Given the description of an element on the screen output the (x, y) to click on. 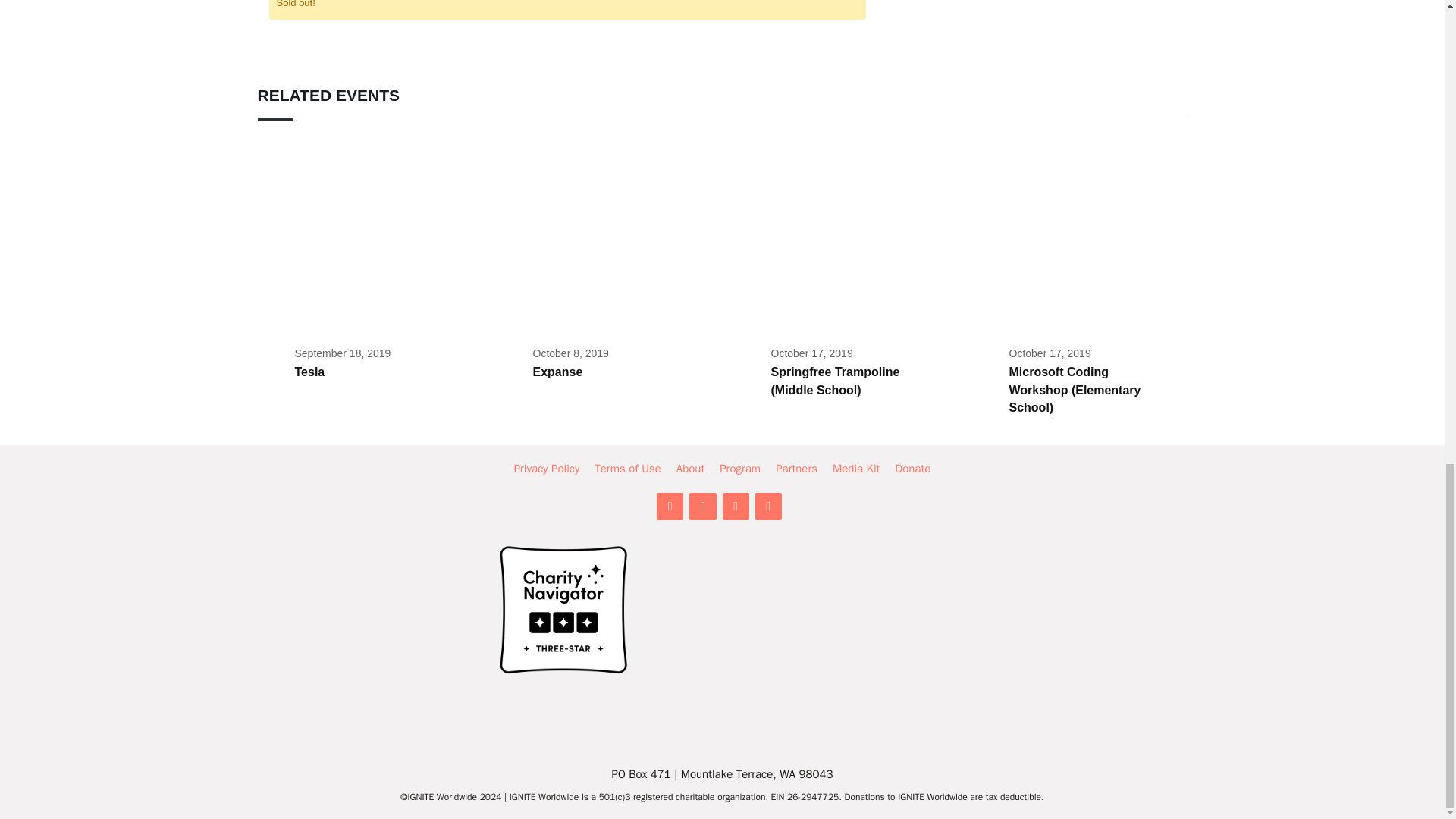
LinkedIn (669, 506)
YouTube (768, 506)
Scroll back to top (1406, 460)
Facebook (702, 506)
Instagram (735, 506)
